Given the description of an element on the screen output the (x, y) to click on. 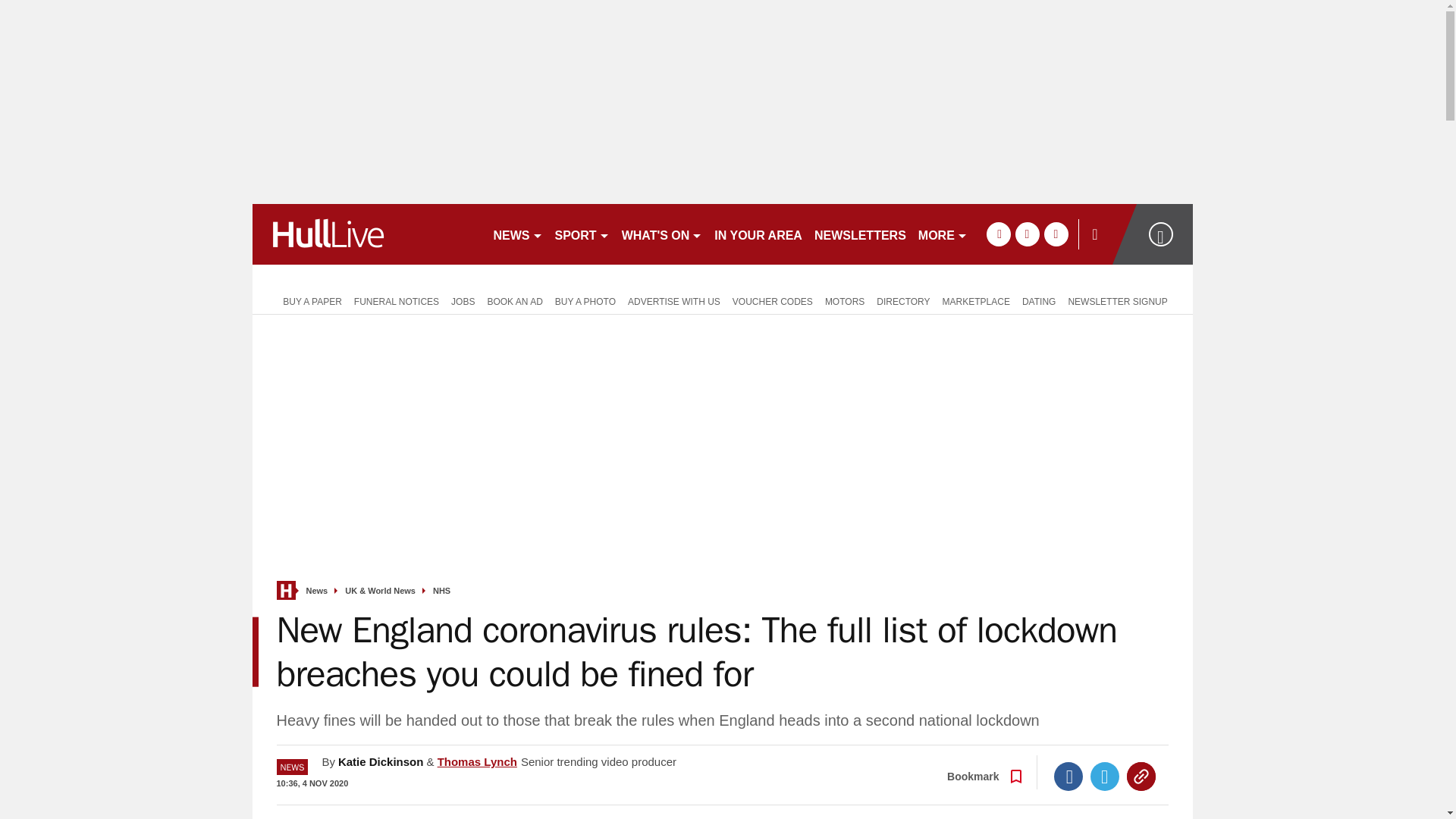
SPORT (581, 233)
WHAT'S ON (662, 233)
Twitter (1104, 776)
IN YOUR AREA (757, 233)
twitter (1026, 233)
facebook (997, 233)
instagram (1055, 233)
Facebook (1068, 776)
NEWSLETTERS (860, 233)
hulldailymail (365, 233)
